Given the description of an element on the screen output the (x, y) to click on. 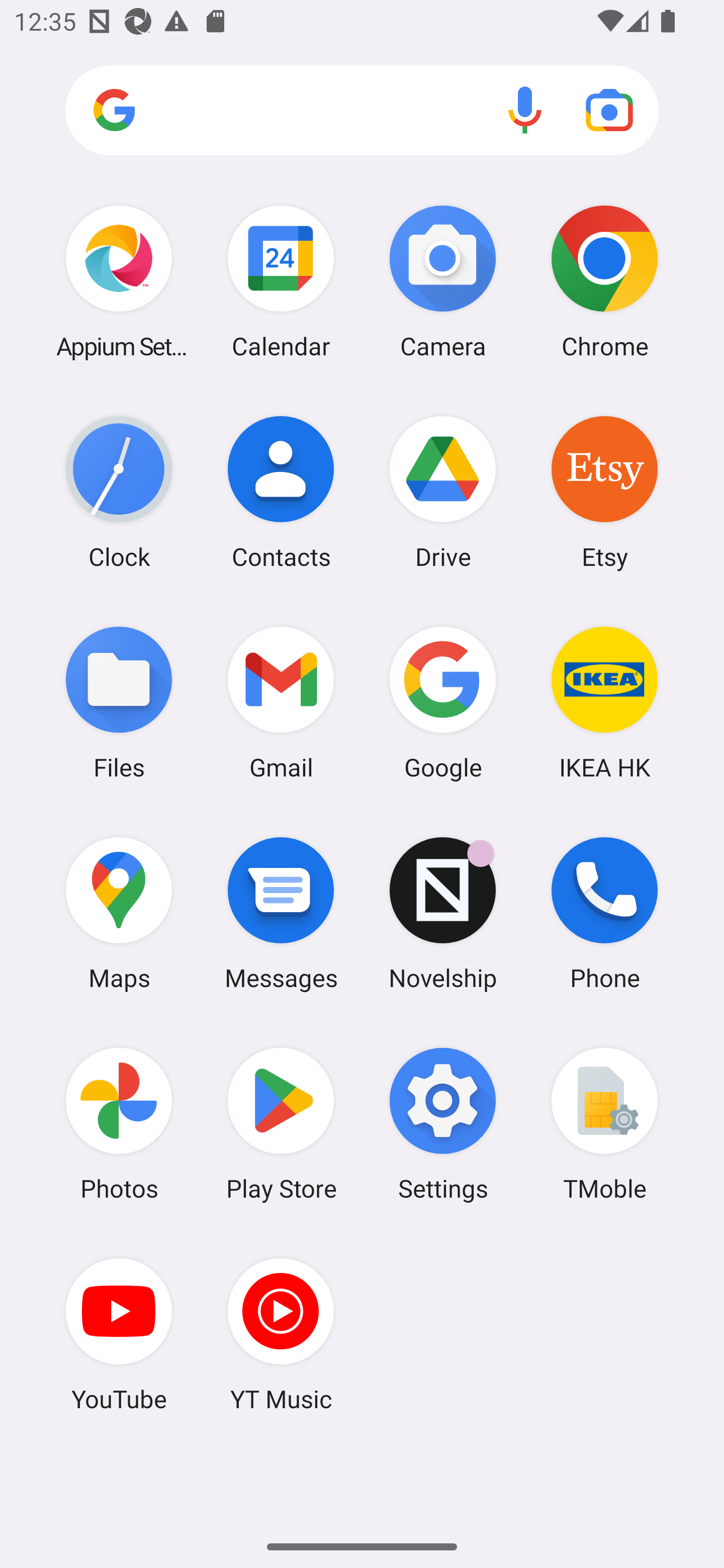
Search apps, web and more (361, 110)
Voice search (524, 109)
Google Lens (608, 109)
Appium Settings (118, 281)
Calendar (280, 281)
Camera (443, 281)
Chrome (604, 281)
Clock (118, 492)
Contacts (280, 492)
Drive (443, 492)
Etsy (604, 492)
Files (118, 702)
Gmail (280, 702)
Google (443, 702)
IKEA HK (604, 702)
Maps (118, 913)
Messages (280, 913)
Novelship Novelship has 7 notifications (443, 913)
Phone (604, 913)
Photos (118, 1124)
Play Store (280, 1124)
Settings (443, 1124)
TMoble (604, 1124)
YouTube (118, 1334)
YT Music (280, 1334)
